Given the description of an element on the screen output the (x, y) to click on. 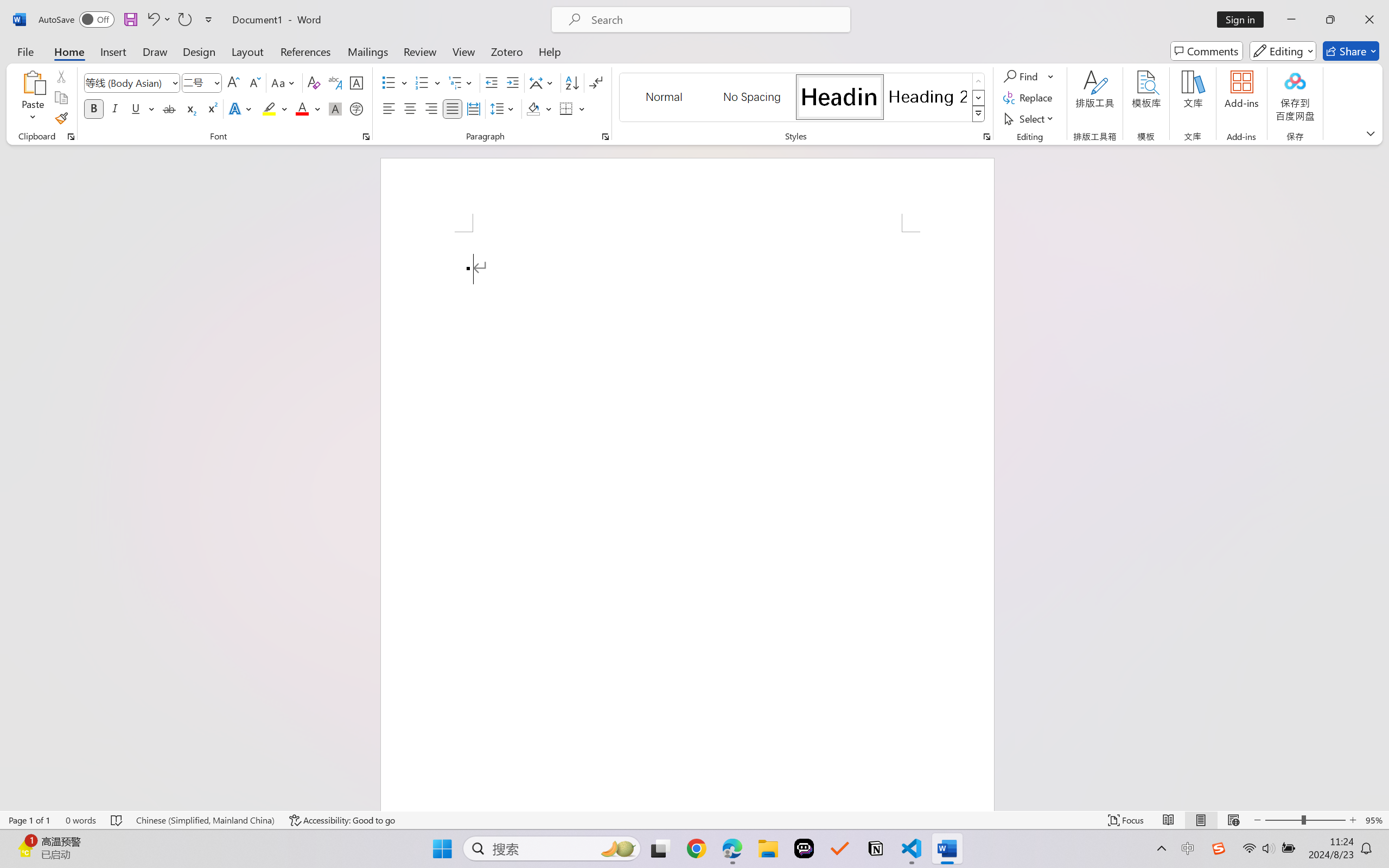
Sign in (1244, 19)
